Given the description of an element on the screen output the (x, y) to click on. 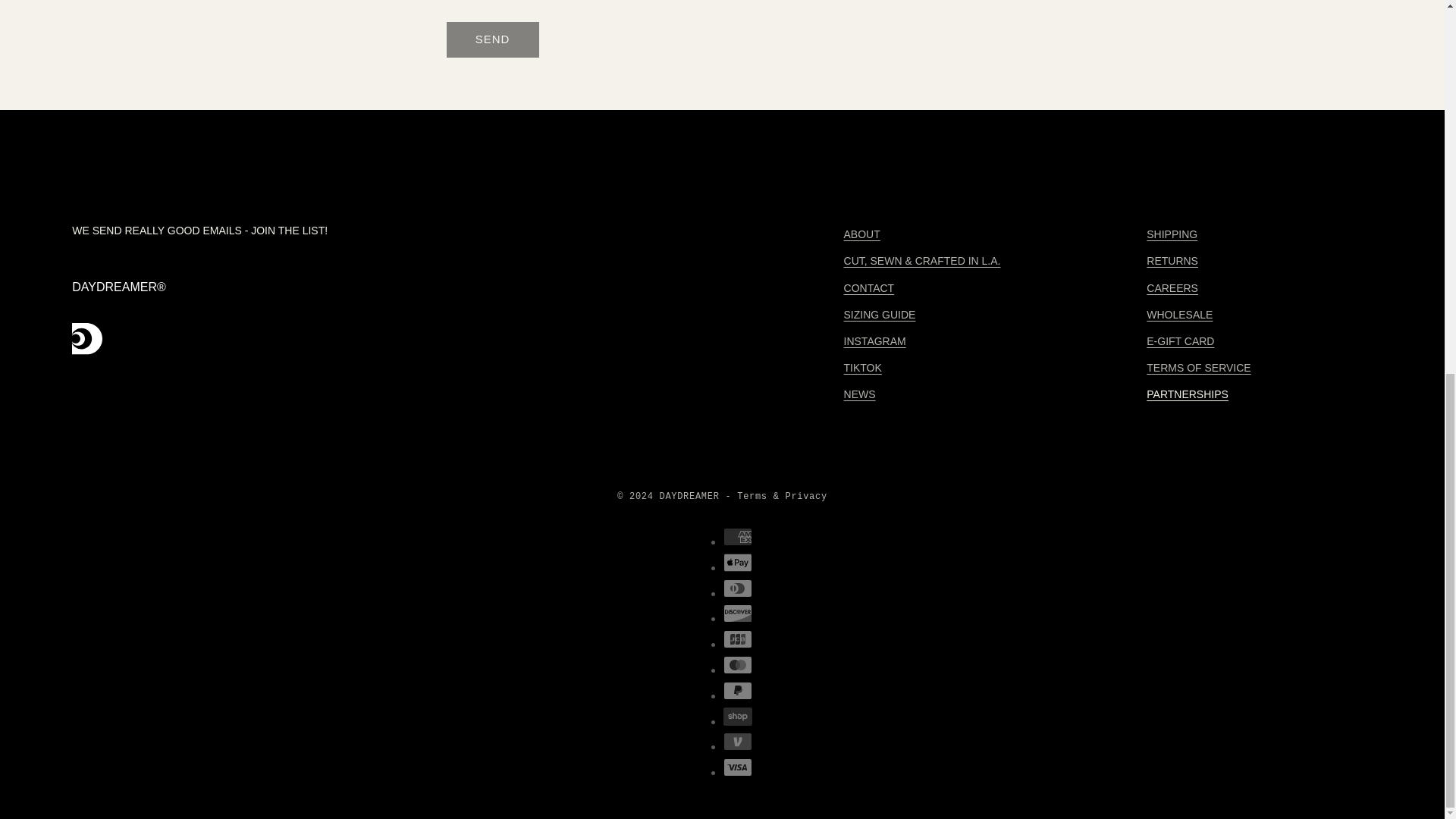
Discover (737, 613)
Shop Pay (737, 716)
Diners Club (737, 588)
JCB (737, 638)
PayPal (737, 690)
Visa (737, 767)
Venmo (737, 741)
Apple Pay (737, 562)
American Express (737, 536)
Mastercard (737, 665)
